Given the description of an element on the screen output the (x, y) to click on. 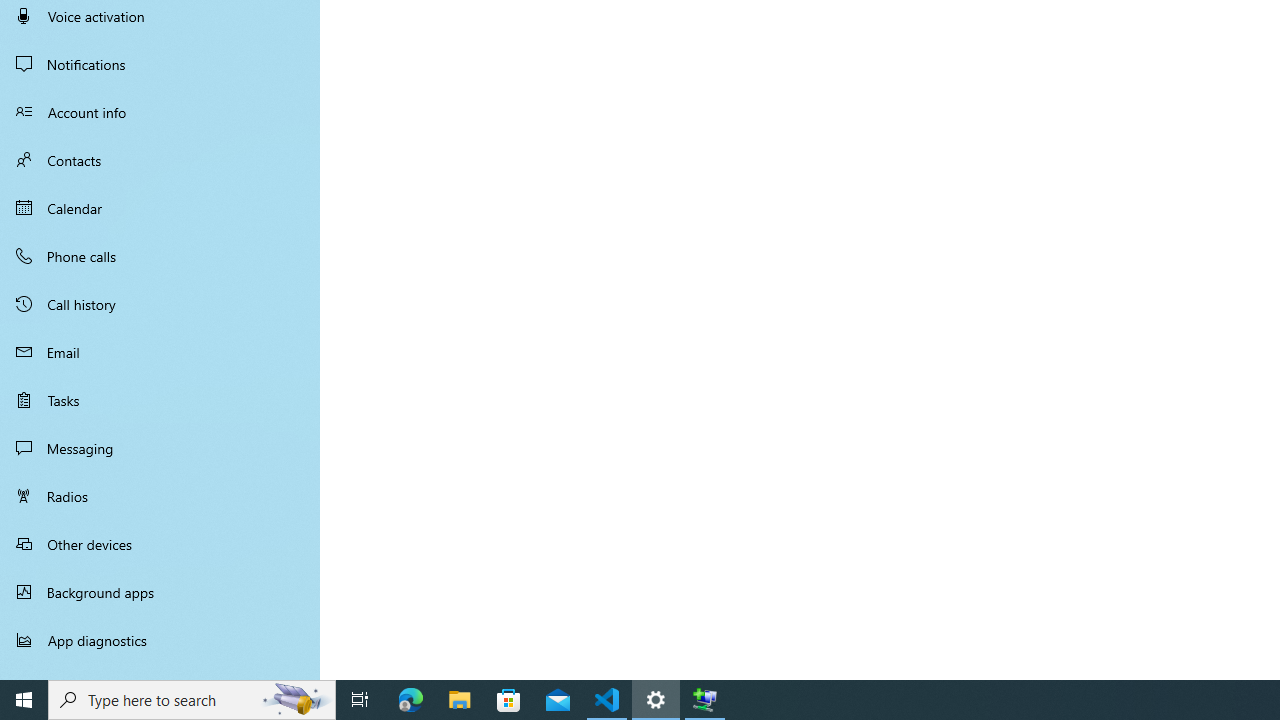
Extensible Wizards Host Process - 1 running window (704, 699)
Contacts (160, 160)
Radios (160, 495)
Notifications (160, 63)
Background apps (160, 592)
Tasks (160, 399)
